Given the description of an element on the screen output the (x, y) to click on. 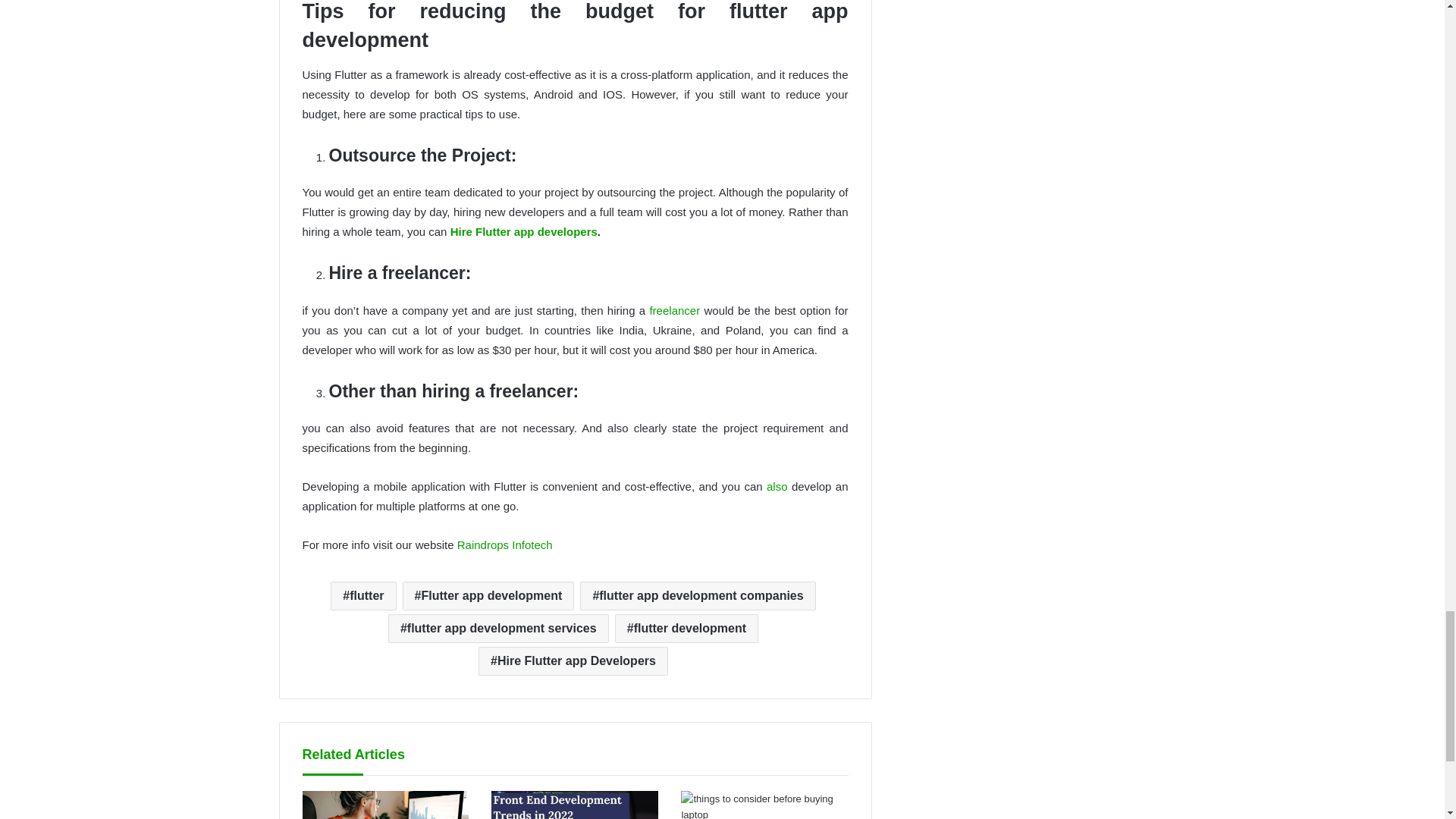
flutter (363, 595)
freelancer (674, 309)
flutter app development companies (697, 595)
Flutter app development (489, 595)
flutter app development services (498, 628)
Raindrops Infotech (505, 544)
also (777, 486)
flutter development (686, 628)
Hire Flutter app developers (522, 231)
Hire Flutter app Developers (573, 661)
